Given the description of an element on the screen output the (x, y) to click on. 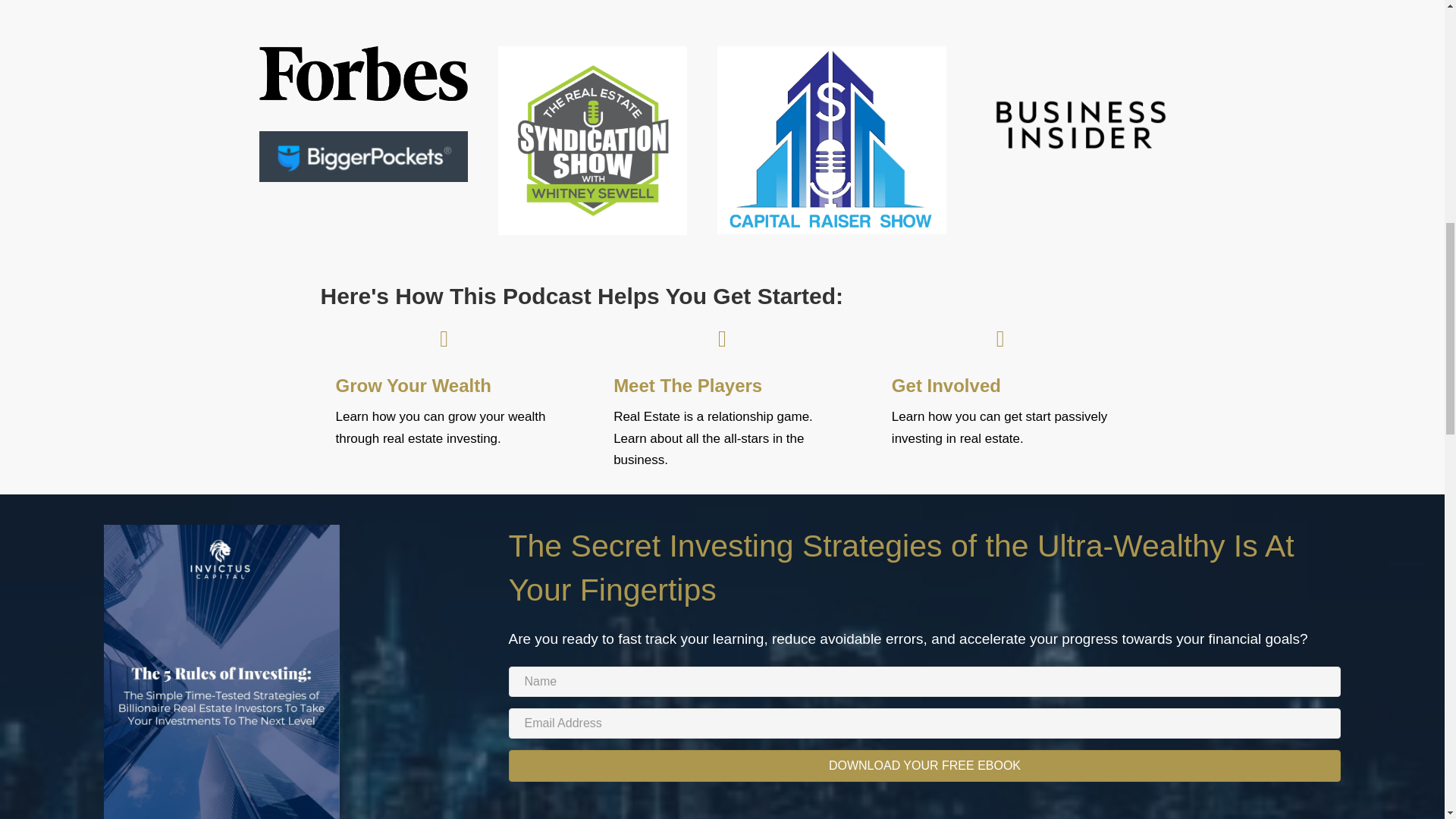
forbes black (363, 72)
syndication show (592, 140)
business insider (1081, 124)
DOWNLOAD YOUR FREE EBOOK (924, 765)
biggerpockets (363, 156)
capital raiser show (831, 139)
